Given the description of an element on the screen output the (x, y) to click on. 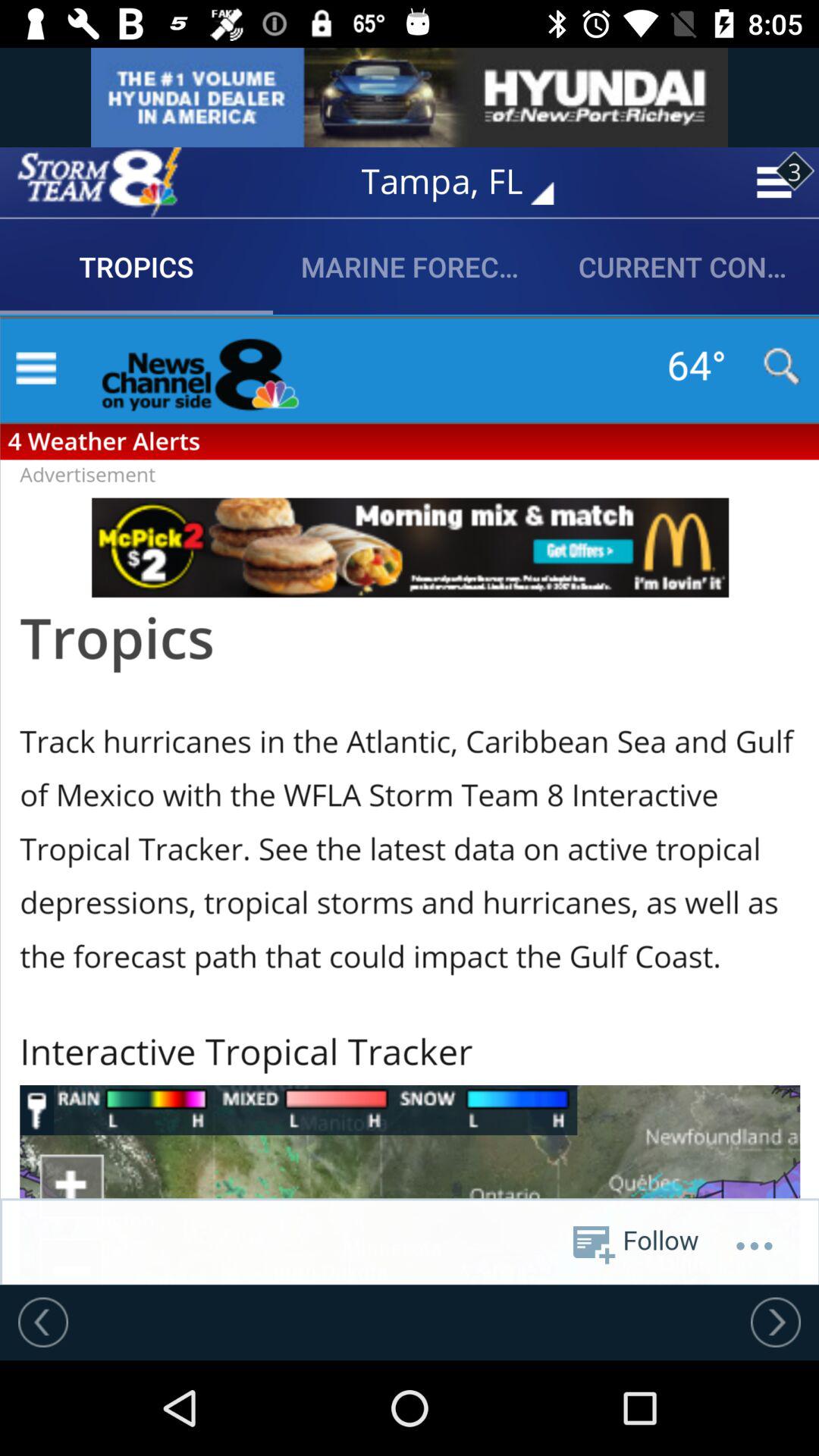
max defender 8 weather app (99, 182)
